Given the description of an element on the screen output the (x, y) to click on. 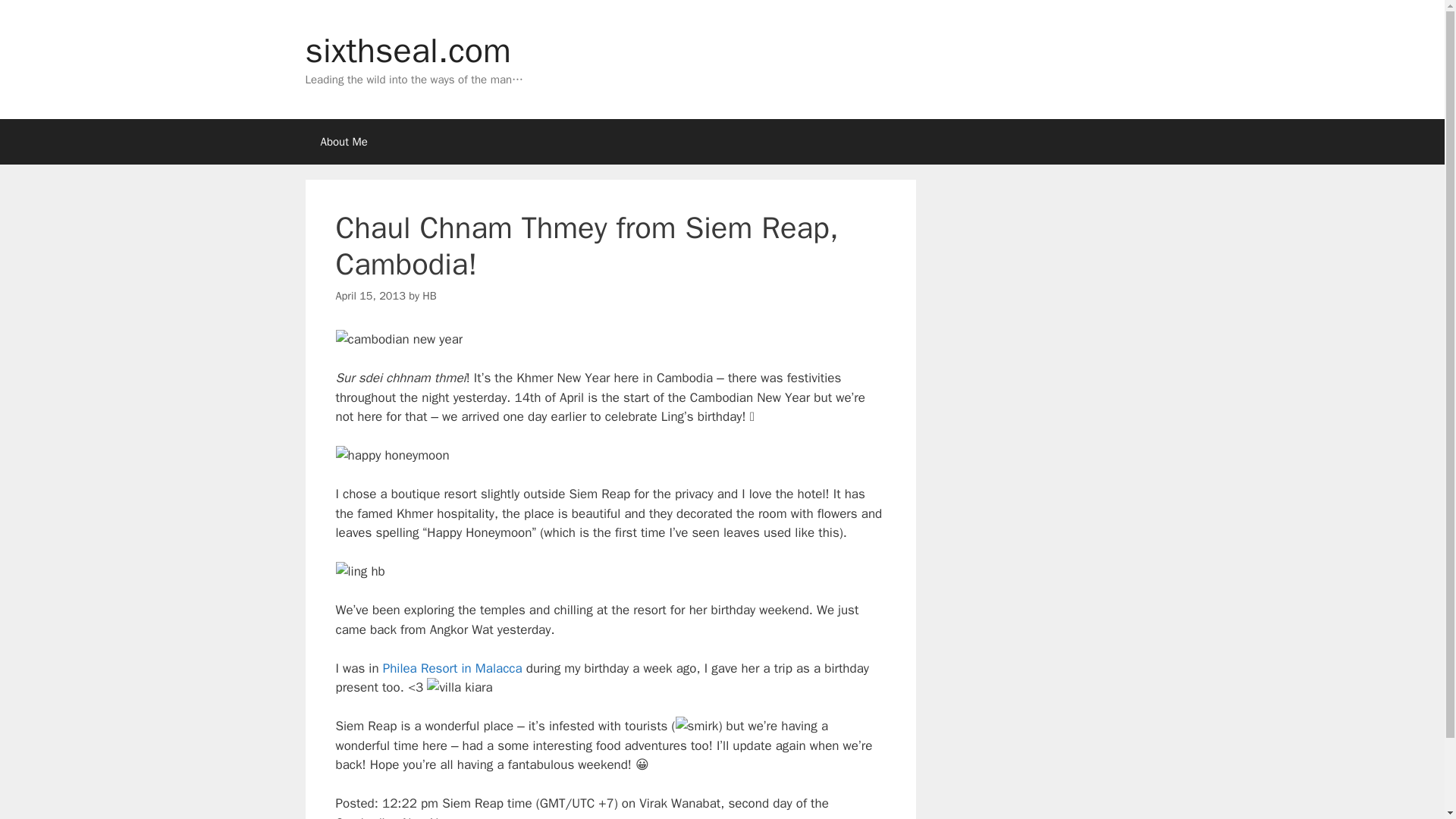
villa kiara (459, 687)
cambodian new year (398, 339)
smirk (697, 726)
Philea Resort in Malacca (452, 668)
View all posts by HB (428, 295)
ling hb (359, 571)
happy honeymoon (391, 455)
April 15, 2013 (369, 295)
